Given the description of an element on the screen output the (x, y) to click on. 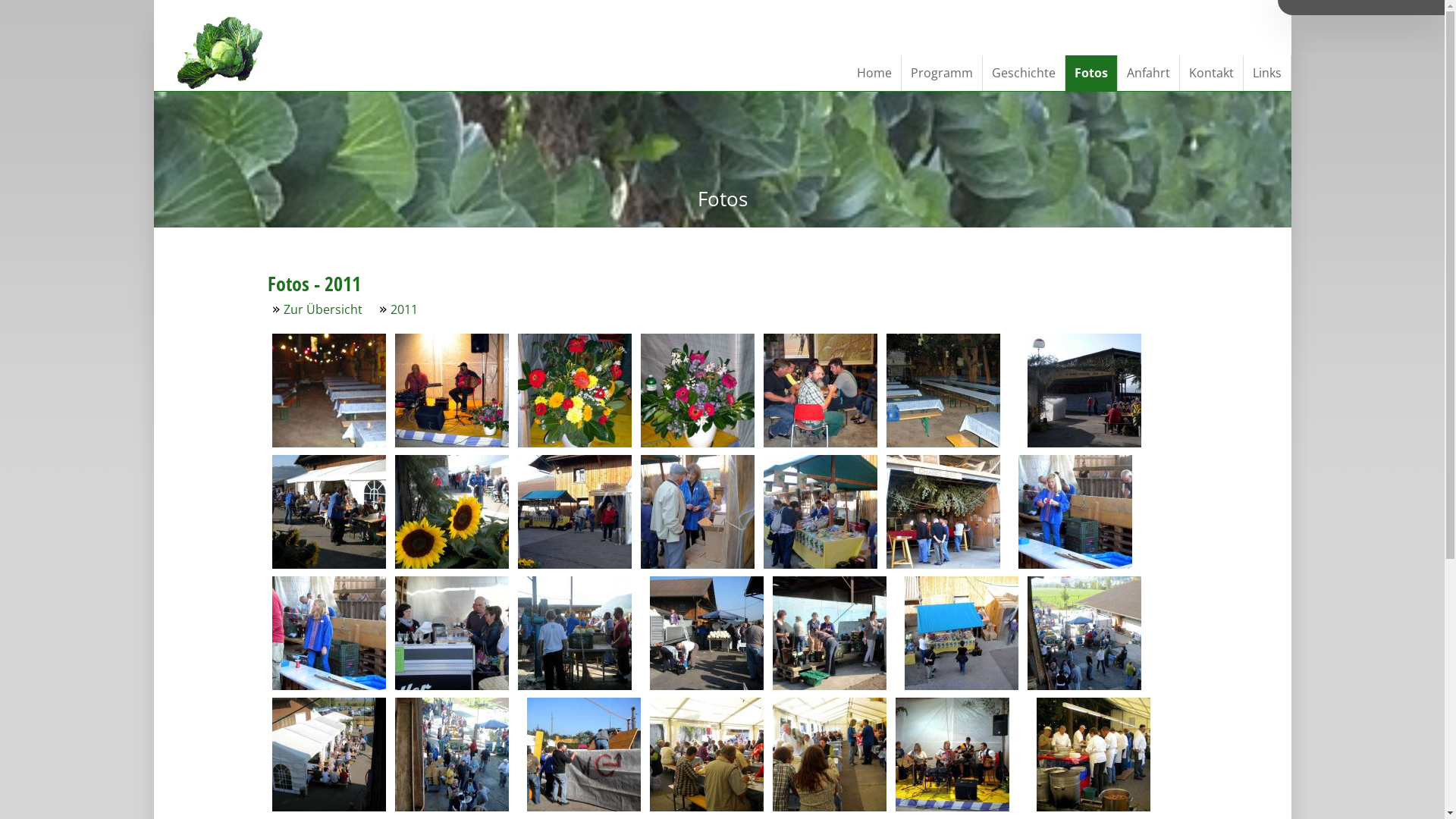
Kontakt Element type: text (1211, 73)
Links Element type: text (1267, 73)
Home Element type: text (874, 73)
2011 Element type: text (403, 309)
Geschichte Element type: text (1023, 73)
Anfahrt Element type: text (1148, 73)
Programm Element type: text (941, 73)
Fotos Element type: text (1090, 73)
